Given the description of an element on the screen output the (x, y) to click on. 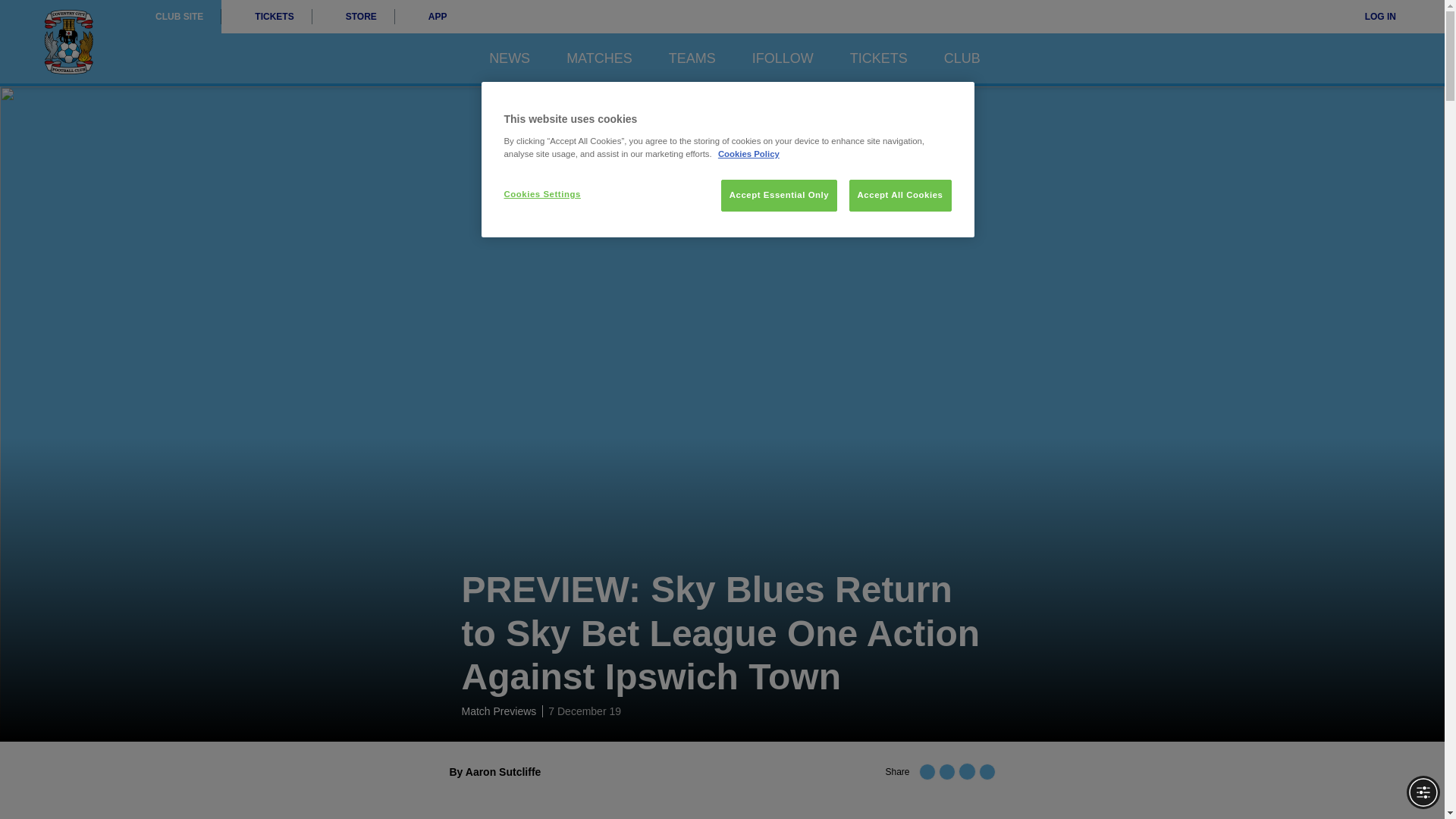
Accessibility Menu (1422, 792)
APP (429, 16)
Cookies Settings (554, 194)
TICKETS (266, 16)
STORE (353, 16)
TEAMS (692, 58)
LOG IN (1369, 16)
CLUB SITE (178, 16)
Accept All Cookies (900, 195)
MATCHES (598, 58)
